Given the description of an element on the screen output the (x, y) to click on. 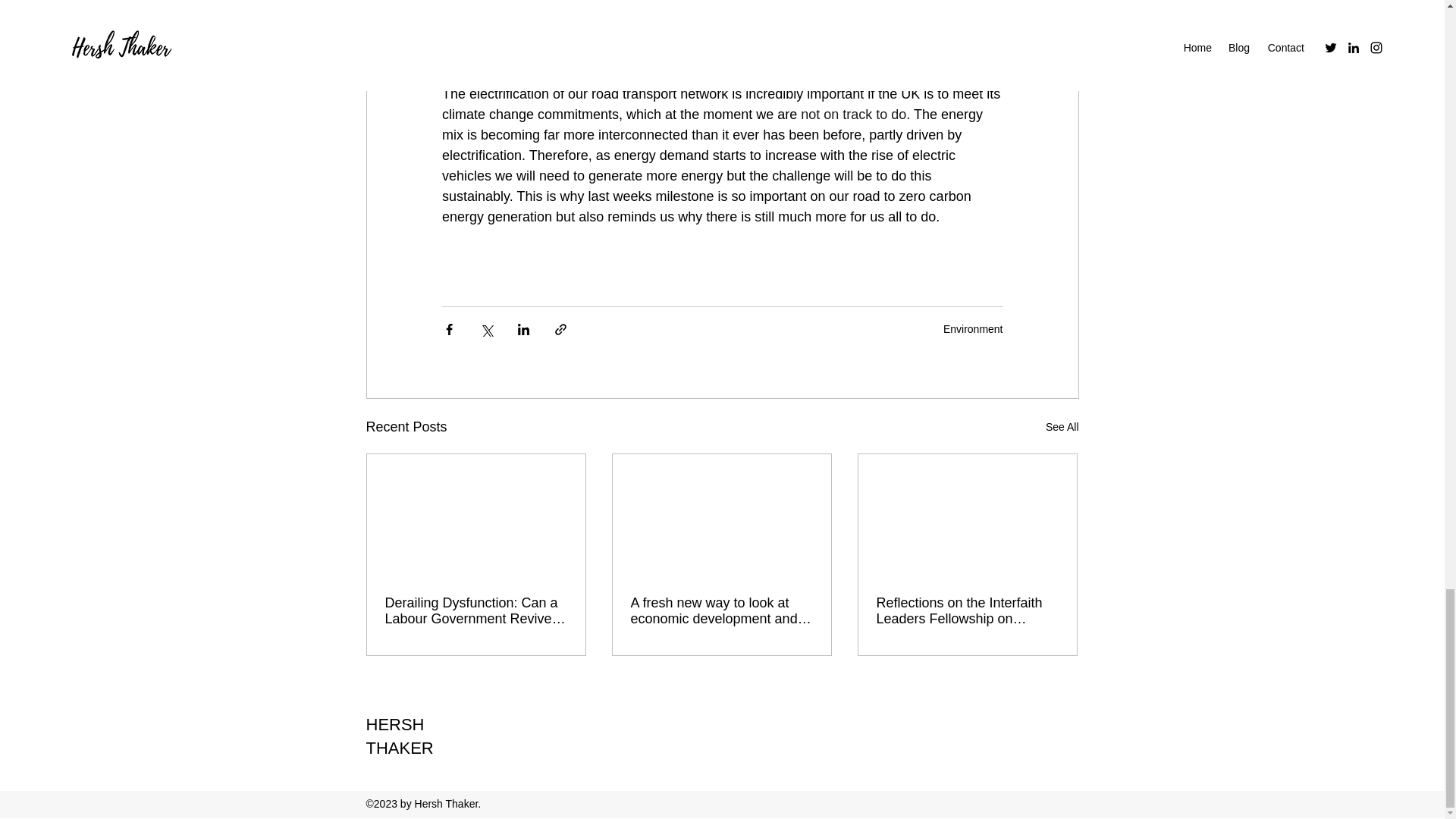
HERSH THAKER (398, 735)
Environment (973, 328)
not on track to do (852, 114)
See All (1061, 427)
